Given the description of an element on the screen output the (x, y) to click on. 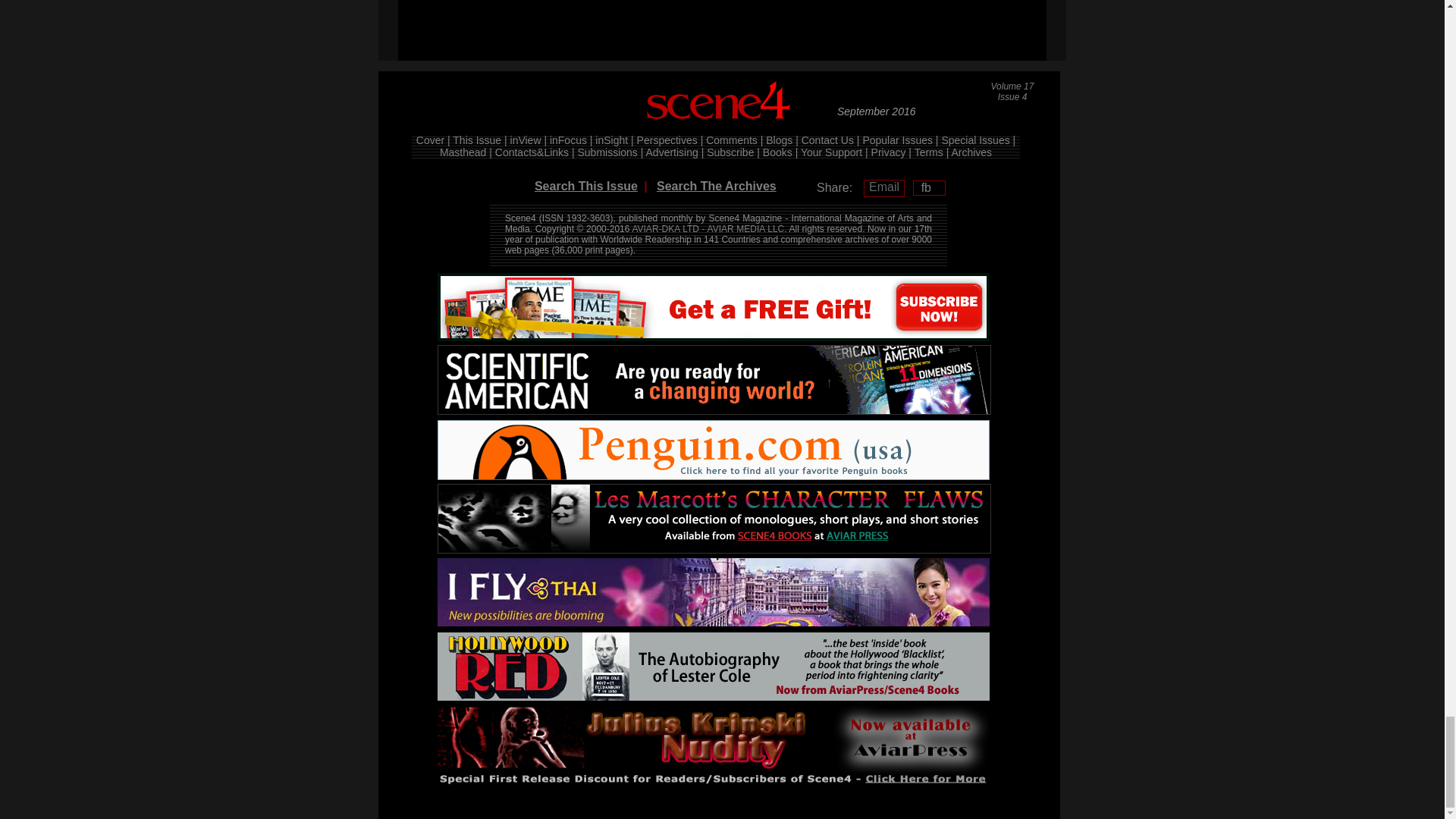
Thai Airways at Scene4 Magazine (714, 591)
Search The Archives (716, 185)
Search This Issue (585, 185)
Sc4-solo--logo62h (719, 104)
Penguin Books-USA www.scene4.com (714, 449)
Character Flaws by Les Marcott at www.aviarpress.com (714, 518)
HollywoodRed-1 (714, 666)
Archives (970, 152)
nudityad-728-sp (714, 746)
Time-0716 (714, 306)
